Given the description of an element on the screen output the (x, y) to click on. 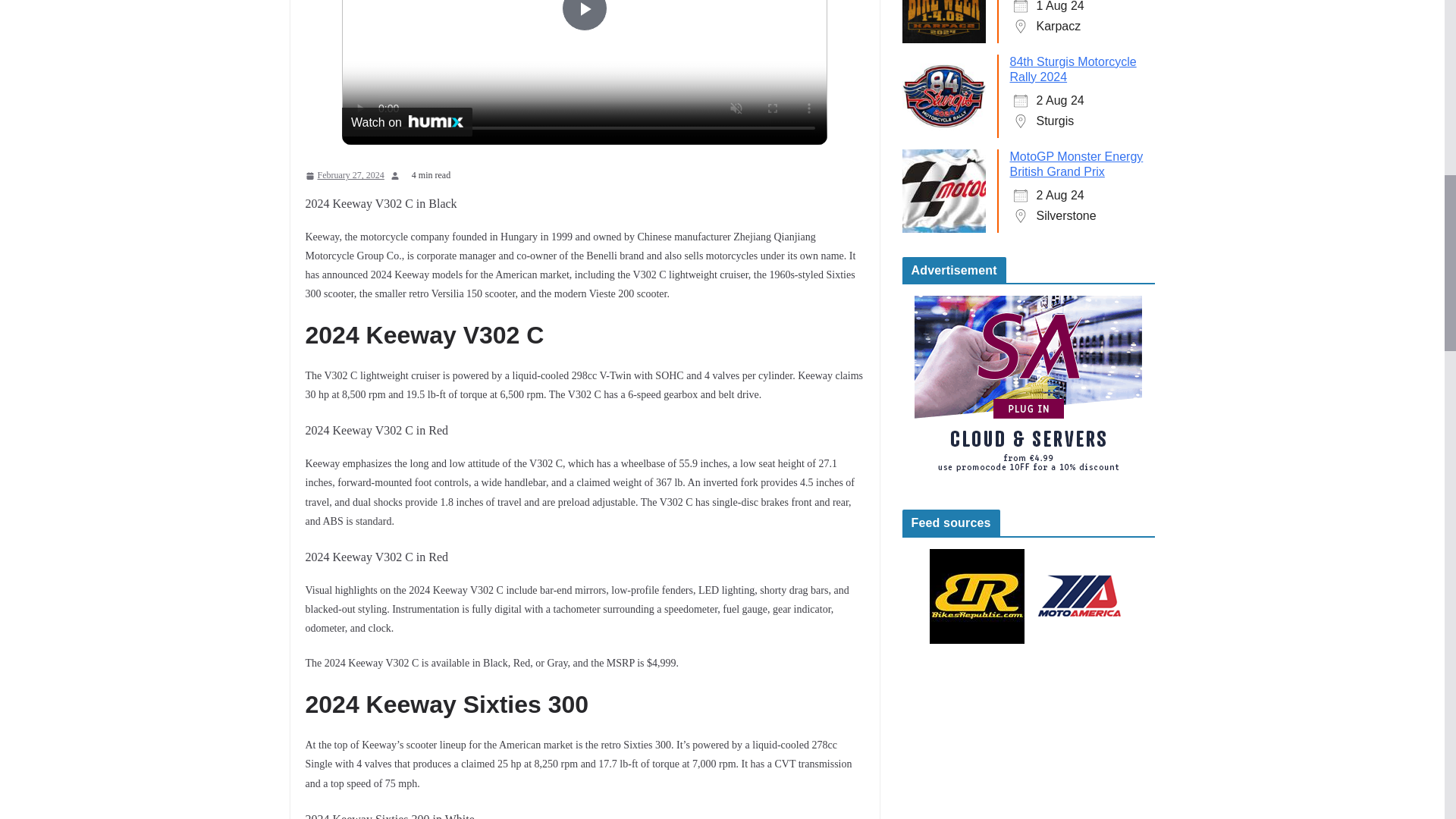
Play Video (584, 15)
Play Video (584, 15)
